Given the description of an element on the screen output the (x, y) to click on. 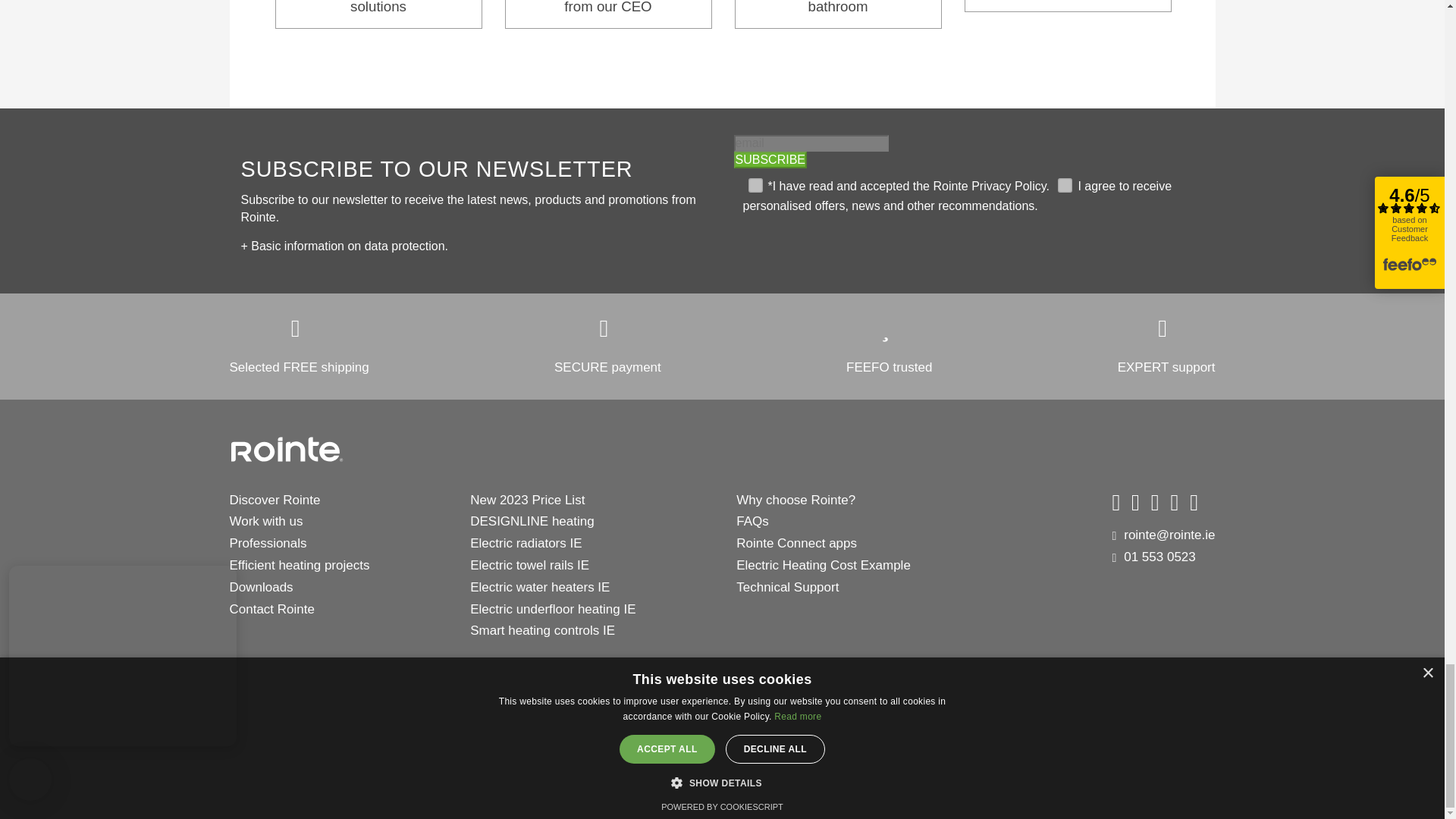
Y (752, 183)
SUBSCRIBE (769, 159)
Y (1062, 183)
